Given the description of an element on the screen output the (x, y) to click on. 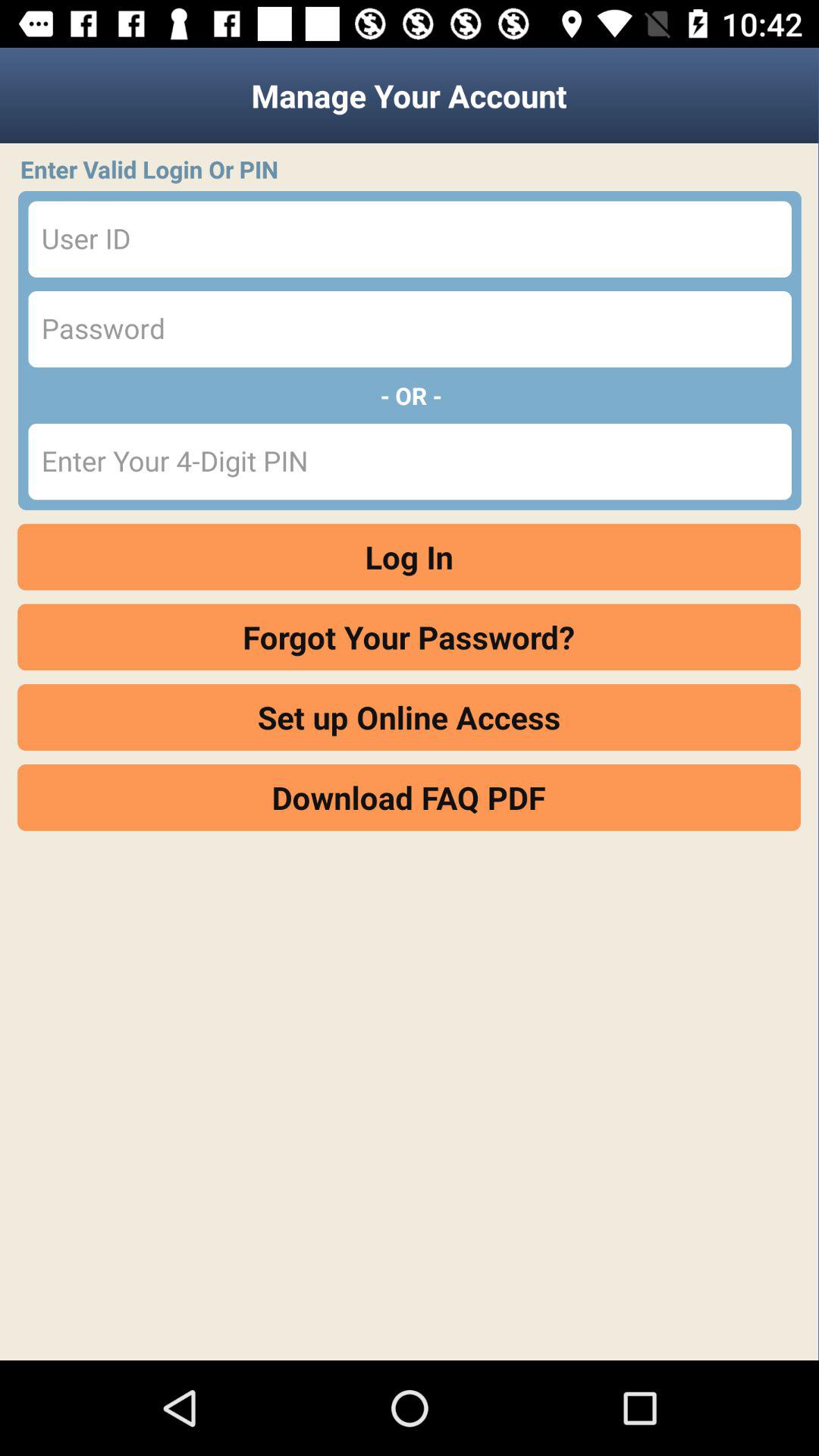
scroll to enter valid login (414, 169)
